Given the description of an element on the screen output the (x, y) to click on. 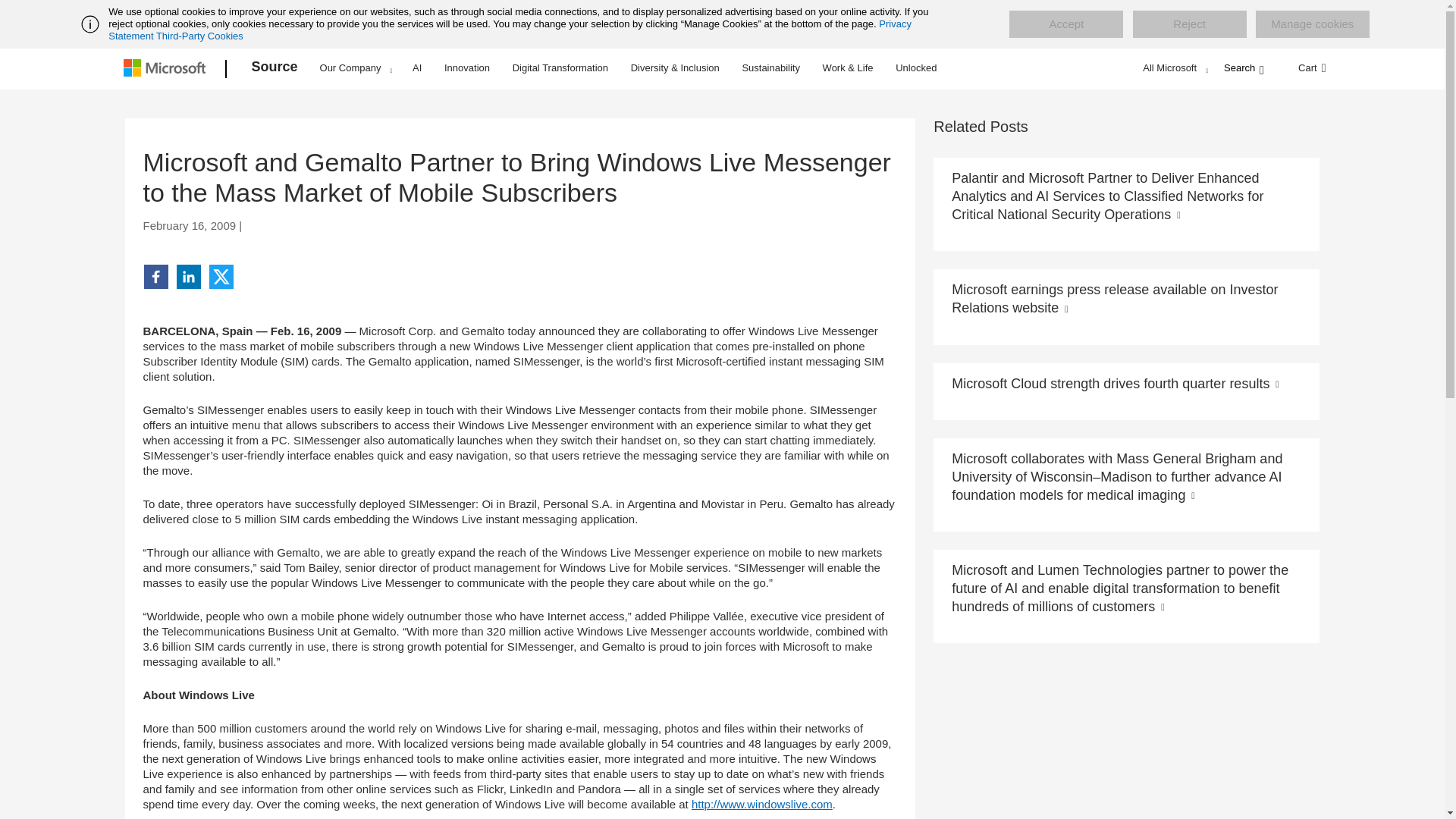
Reject (1189, 23)
All Microsoft (1173, 67)
Third-Party Cookies (199, 35)
Sustainability (770, 67)
Accept (1065, 23)
Our Company (355, 67)
Unlocked (915, 67)
Privacy Statement (509, 29)
Digital Transformation (559, 67)
